Given the description of an element on the screen output the (x, y) to click on. 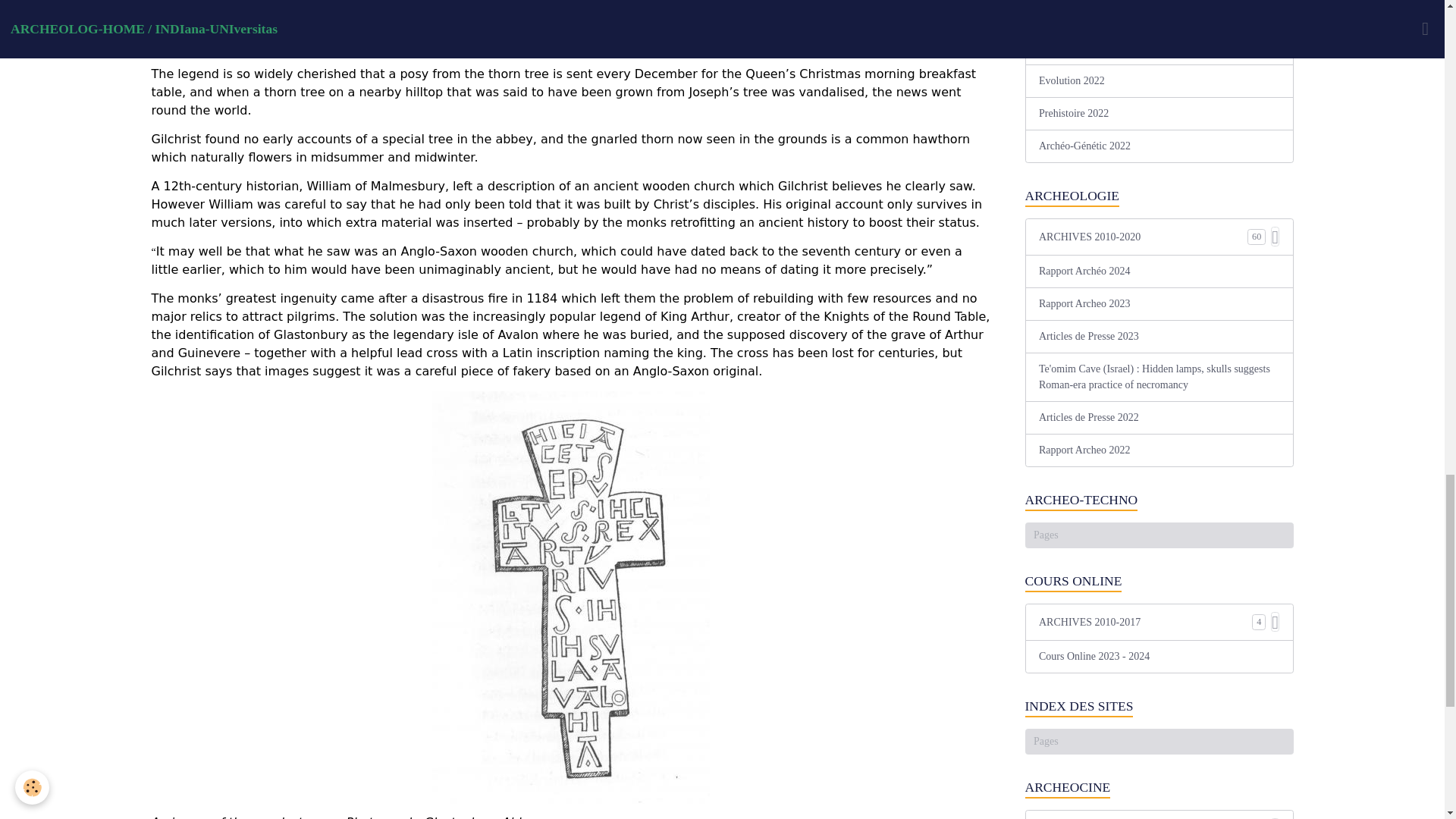
Finnish (1077, 567)
Arabic (1189, 516)
Italiano (1226, 516)
Russian (1114, 542)
Deutsch (1264, 516)
was vandalised (817, 92)
Bulgarian (1114, 567)
Hindi (1039, 567)
Norwegian (1264, 542)
Portuguesa (1077, 542)
